Given the description of an element on the screen output the (x, y) to click on. 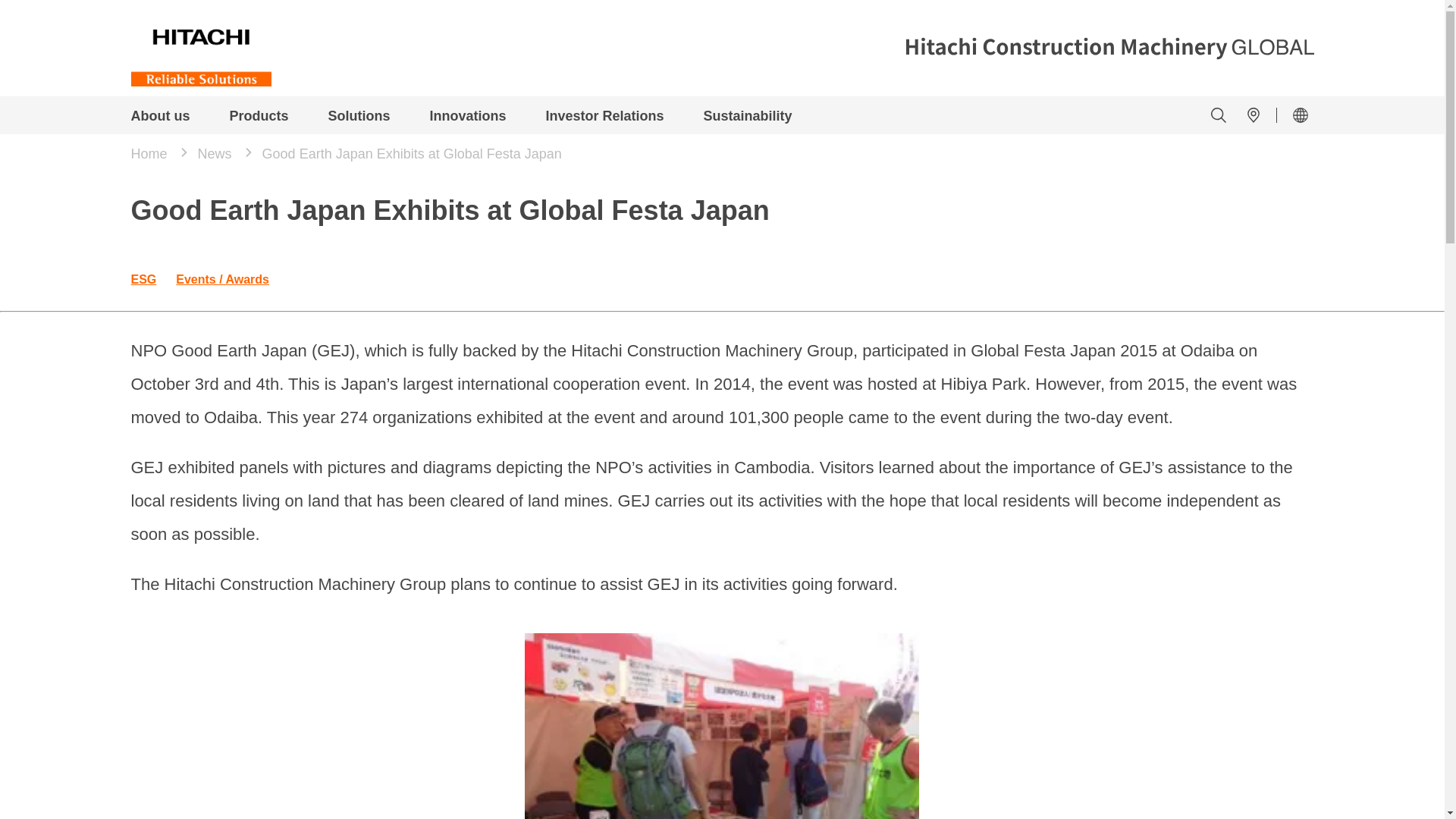
Hitachi Construction Machinery (200, 43)
Hitachi Construction Machinery Global (1109, 48)
Products (258, 116)
About us (160, 116)
Solutions (359, 116)
